Given the description of an element on the screen output the (x, y) to click on. 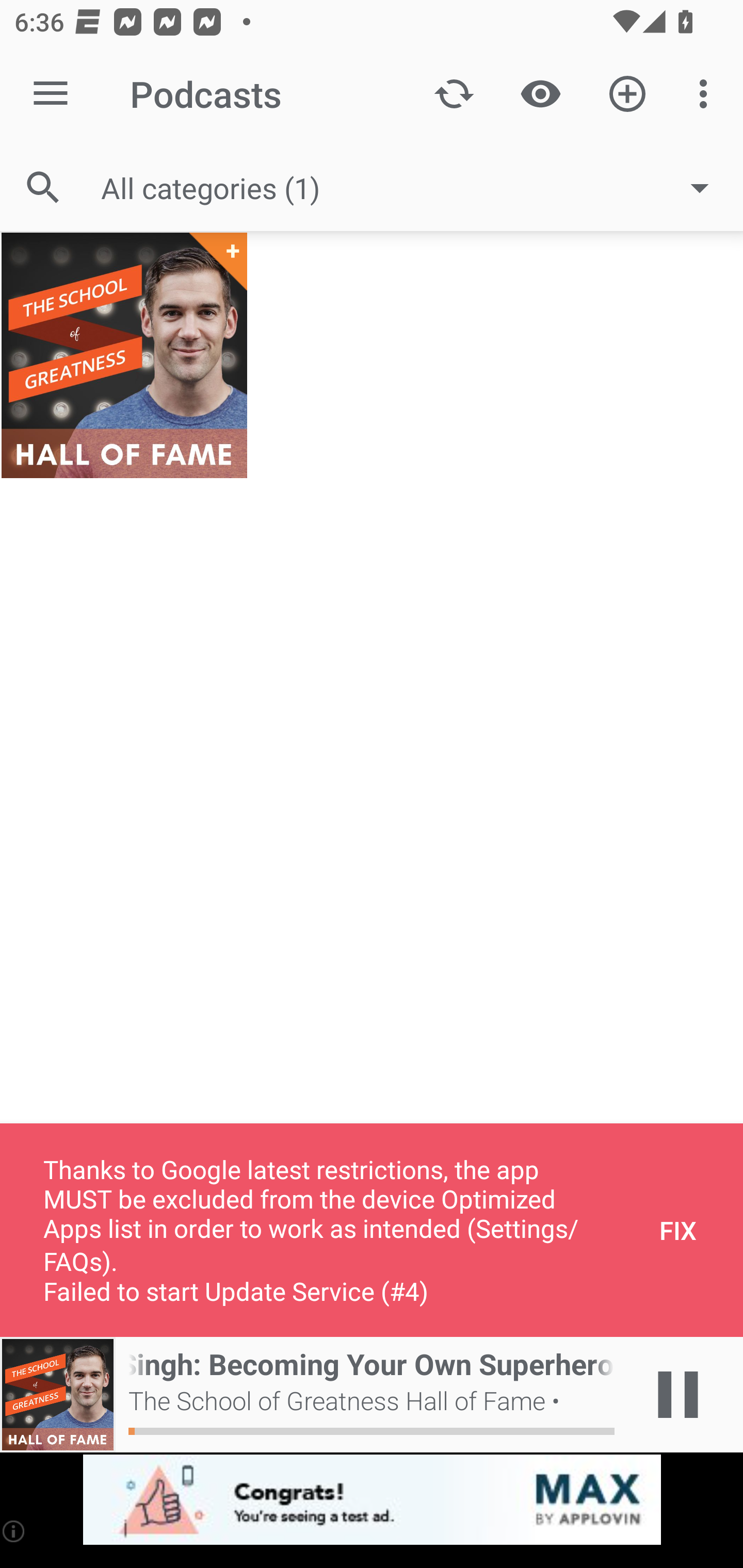
Open navigation sidebar (50, 93)
Update (453, 93)
Show / Hide played content (540, 93)
Add new Podcast (626, 93)
More options (706, 93)
Search (43, 187)
All categories (1) (414, 188)
The School of Greatness Hall of Fame + (124, 355)
FIX (677, 1229)
Play / Pause (677, 1394)
app-monetization (371, 1500)
(i) (14, 1531)
